Given the description of an element on the screen output the (x, y) to click on. 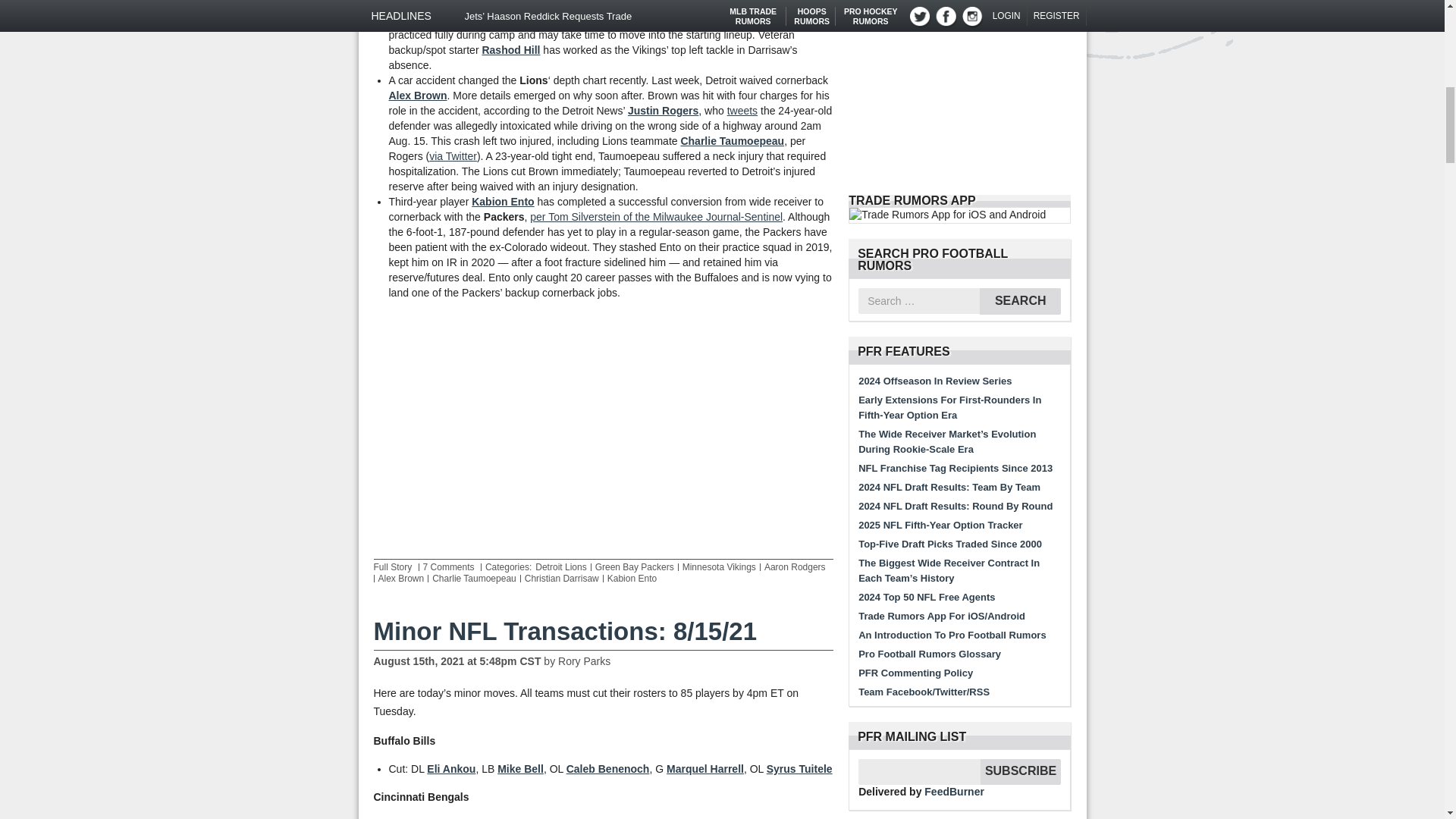
View all posts in Minnesota Vikings (718, 566)
View all posts in Christian Darrisaw (561, 578)
View all posts in Green Bay Packers (634, 566)
Subscribe (1020, 771)
Search (1020, 301)
View all posts in Aaron Rodgers (794, 566)
View all posts in Charlie Taumoepeau (474, 578)
View all posts in Kabion Ento (631, 578)
View all posts in Detroit Lions (560, 566)
View all posts in Alex Brown (400, 578)
